Given the description of an element on the screen output the (x, y) to click on. 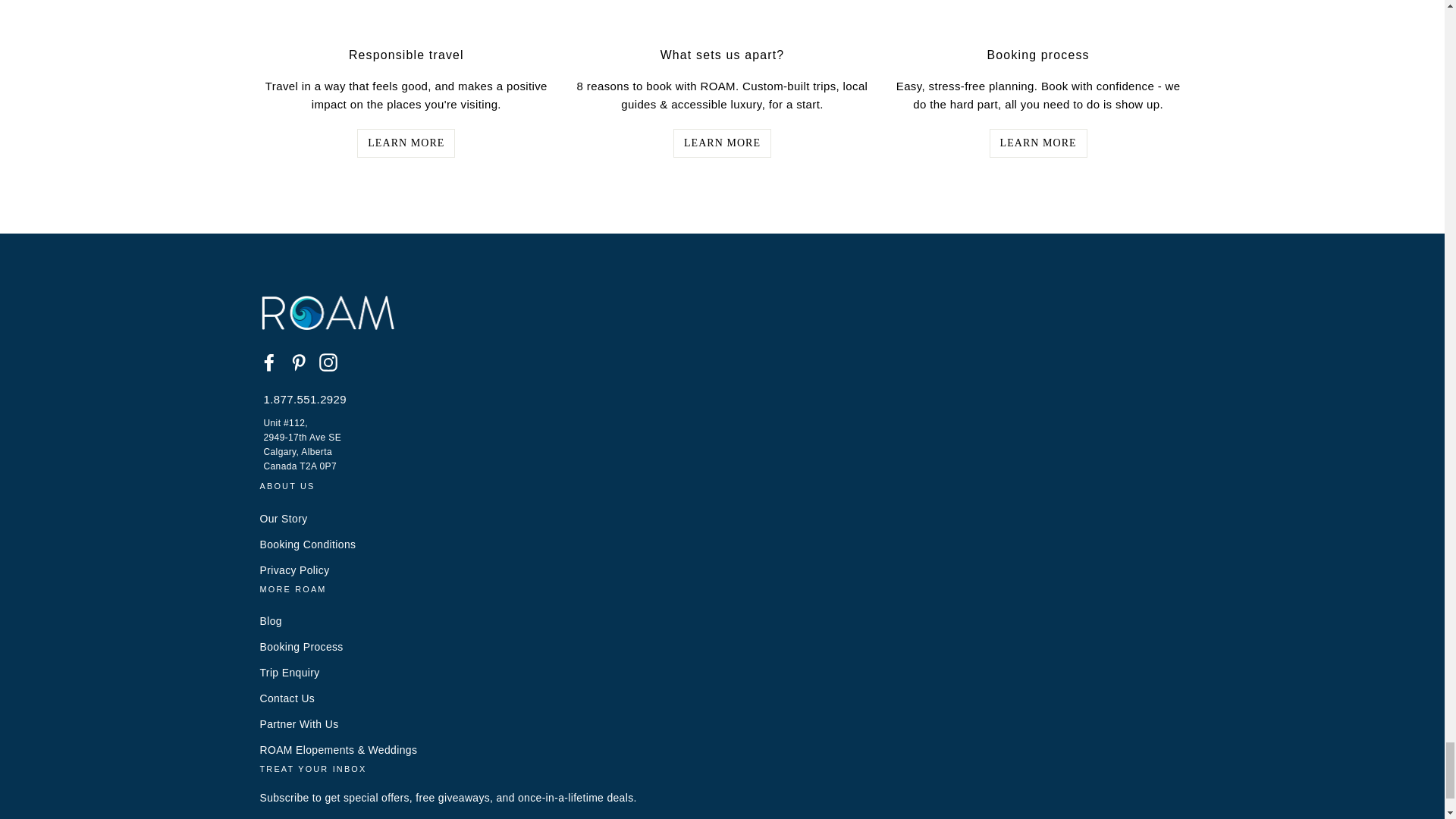
ROAM Wild Travel Co. on Instagram (327, 361)
ROAM Wild Travel Co. on Pinterest (298, 361)
ROAM Wild Travel Co. on Facebook (268, 361)
